Given the description of an element on the screen output the (x, y) to click on. 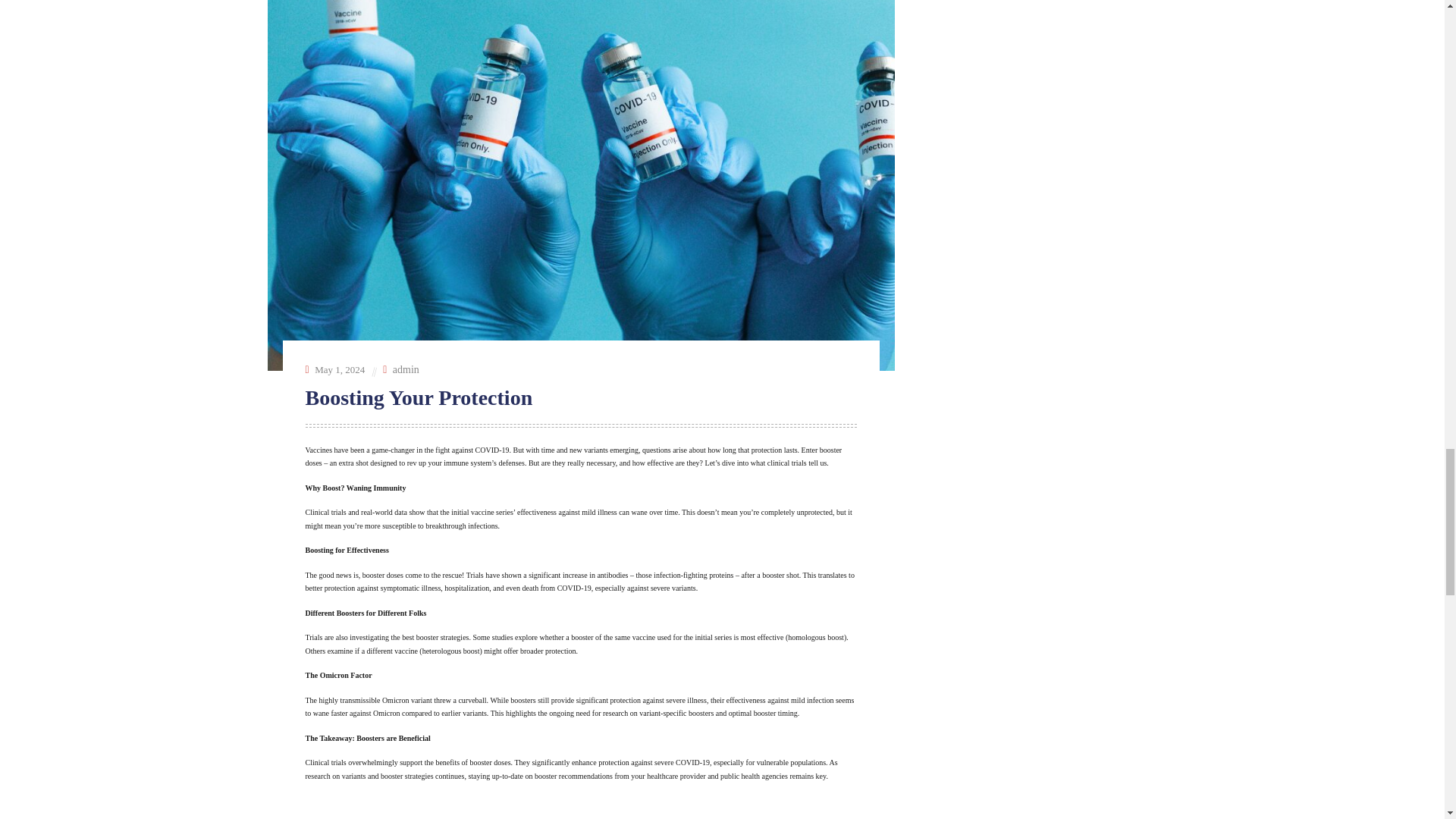
Boosting Your Protection (418, 397)
May 1, 2024 (339, 369)
